Given the description of an element on the screen output the (x, y) to click on. 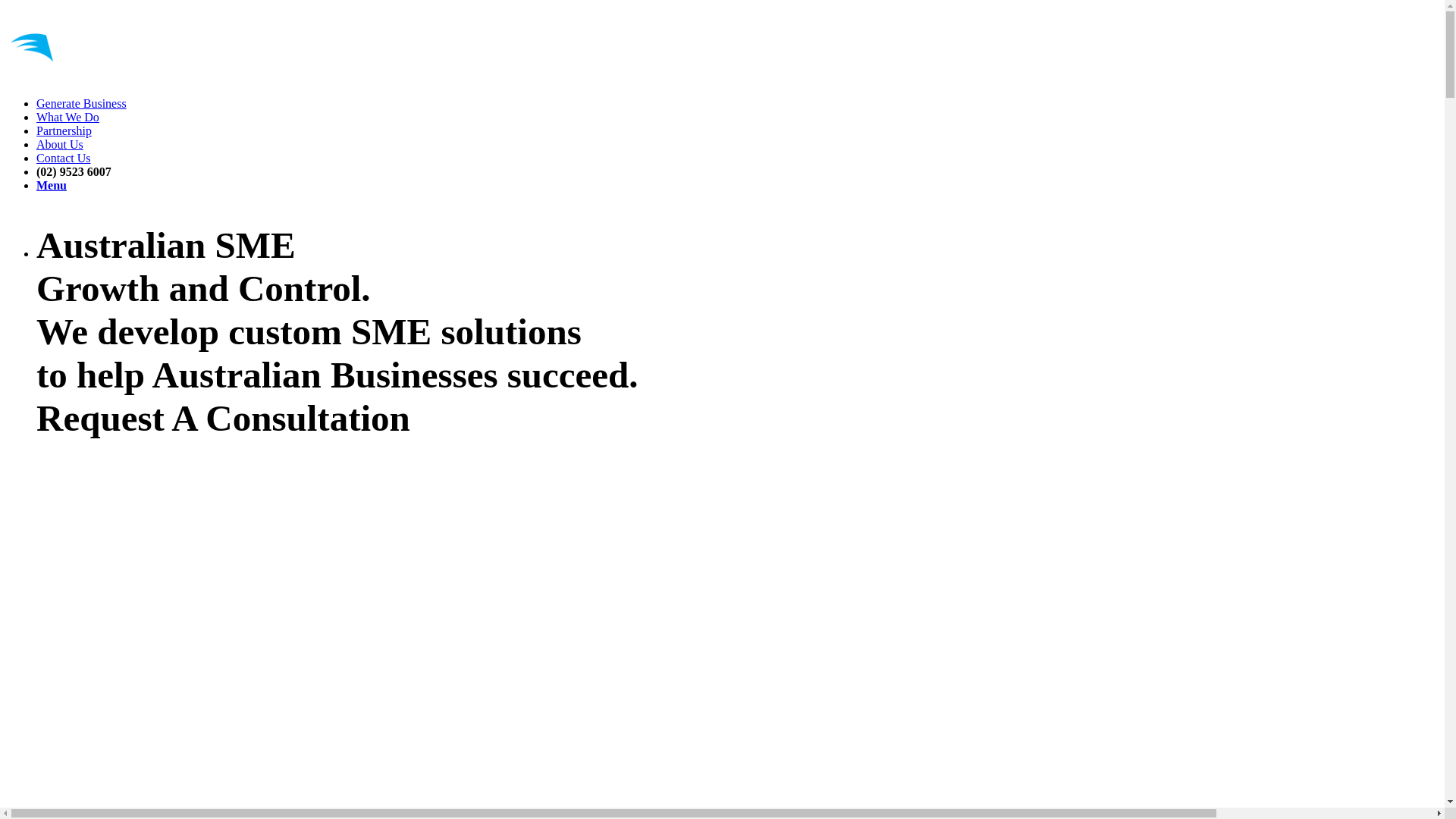
Contact Us Element type: text (63, 157)
Generate Business Element type: text (81, 103)
Partnership Element type: text (63, 130)
What We Do Element type: text (67, 116)
Menu Element type: text (51, 184)
(02) 9523 6007 Element type: text (73, 171)
About Us Element type: text (59, 144)
